Given the description of an element on the screen output the (x, y) to click on. 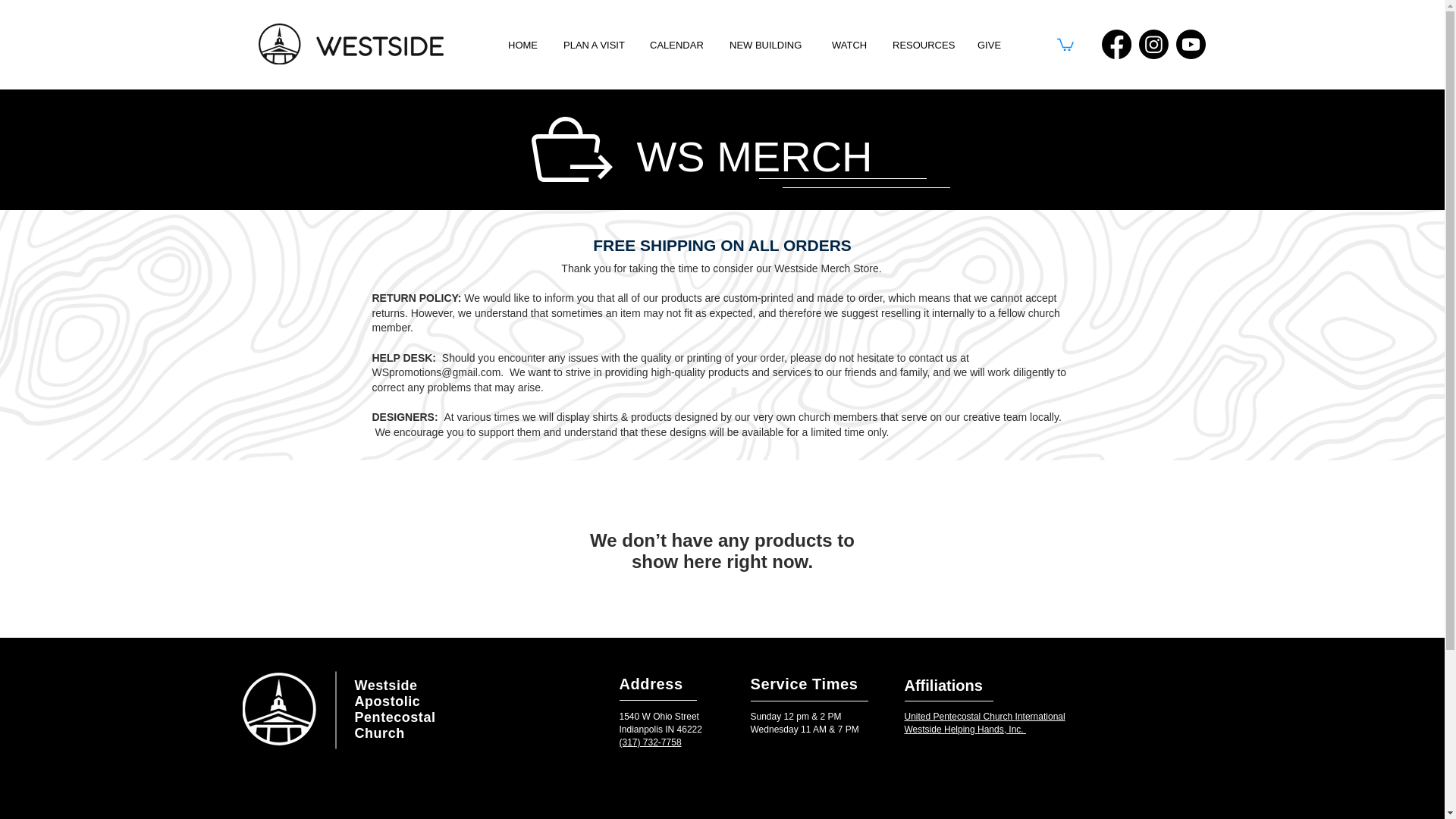
HOME (523, 44)
CALENDAR (678, 44)
United Pentecostal Church International (984, 716)
NEW BUILDING (769, 44)
PLAN A VISIT (595, 44)
Westside Helping Hands, Inc.  (965, 728)
GIVE (989, 44)
WATCH (850, 44)
